Given the description of an element on the screen output the (x, y) to click on. 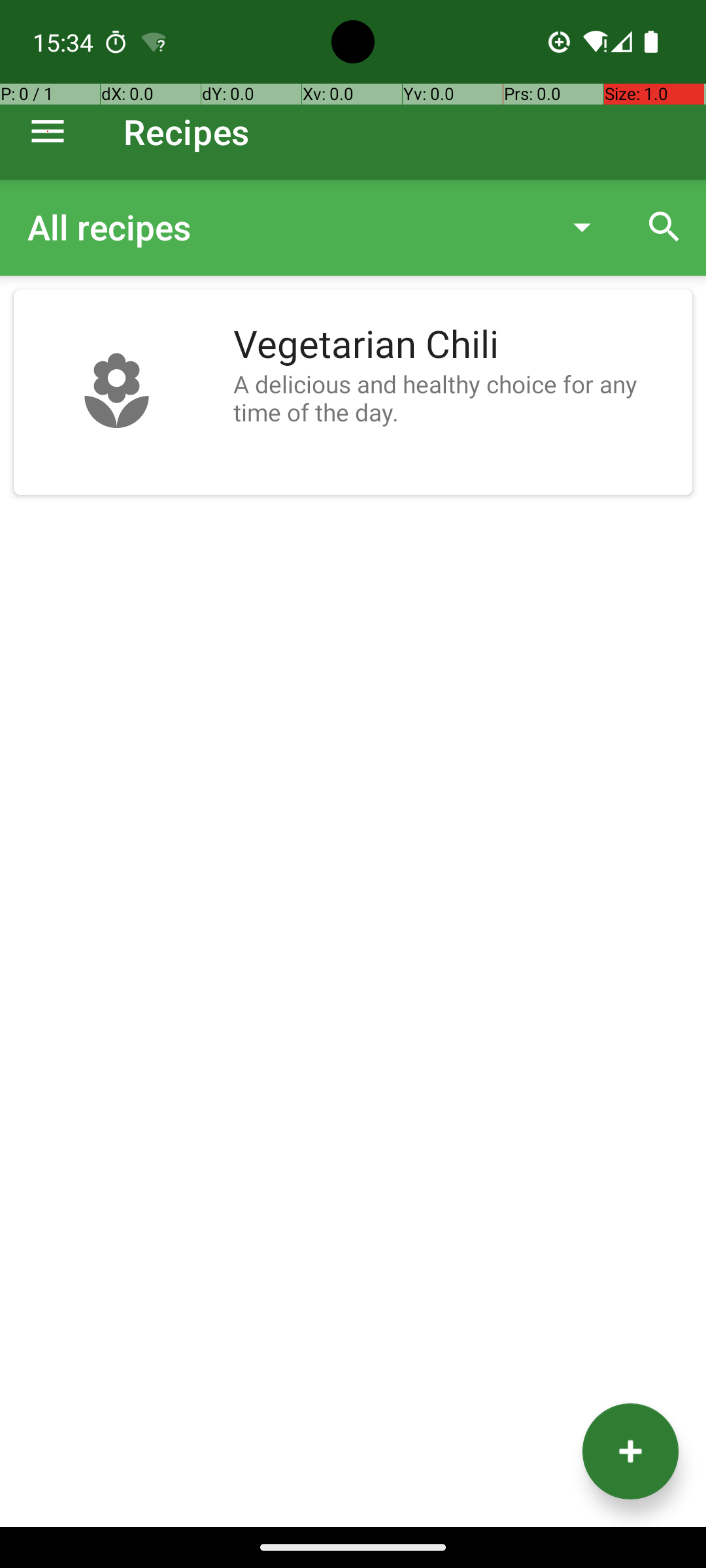
Vegetarian Chili Element type: android.widget.TextView (455, 344)
